Given the description of an element on the screen output the (x, y) to click on. 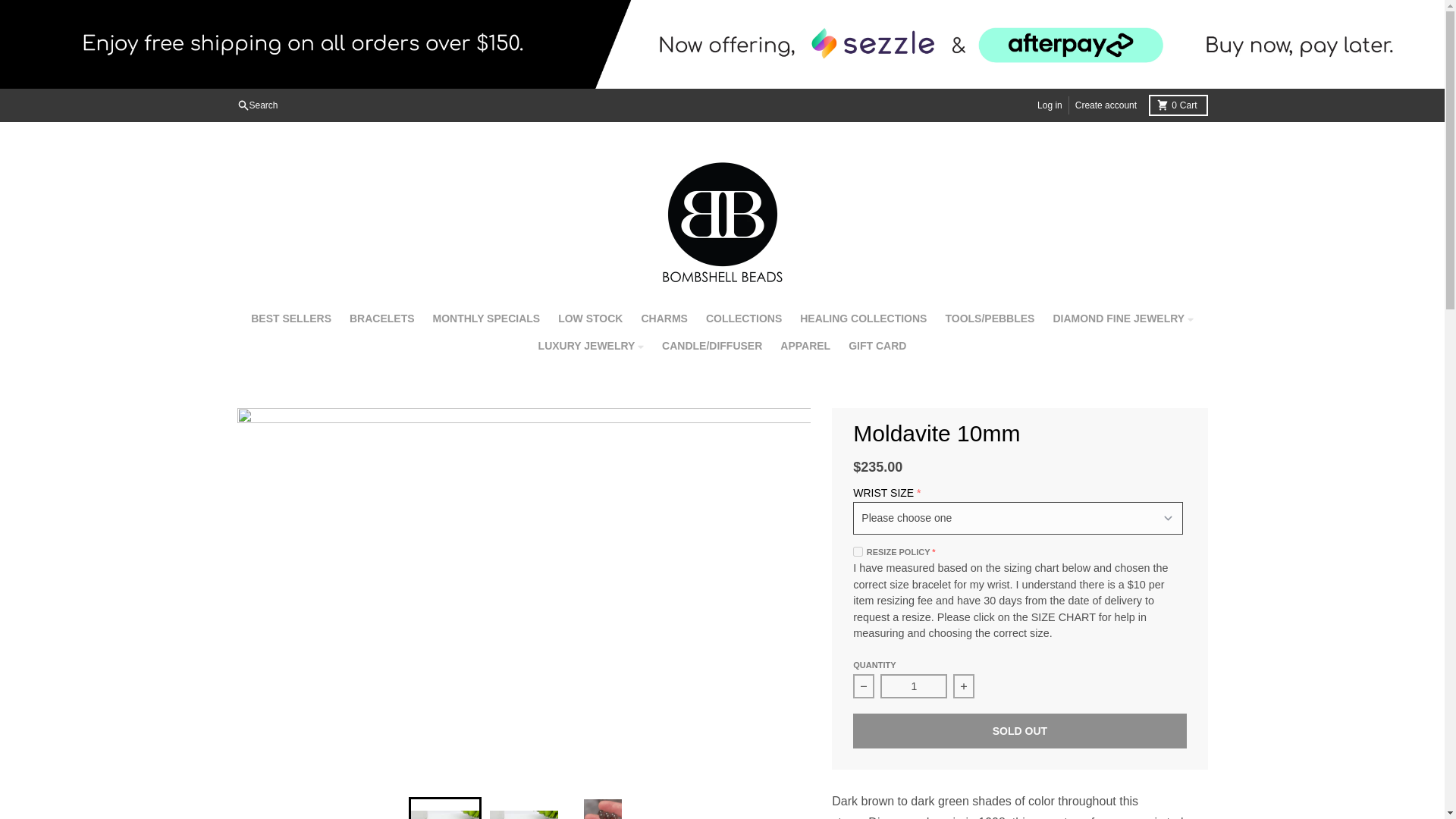
1 (913, 686)
BRACELETS (1177, 105)
BEST SELLERS (381, 318)
Log in (290, 318)
LOW STOCK (1049, 105)
MONTHLY SPECIALS (589, 318)
COLLECTIONS (486, 318)
CHARMS (743, 318)
Search (663, 318)
HEALING COLLECTIONS (256, 105)
Create account (863, 318)
